Given the description of an element on the screen output the (x, y) to click on. 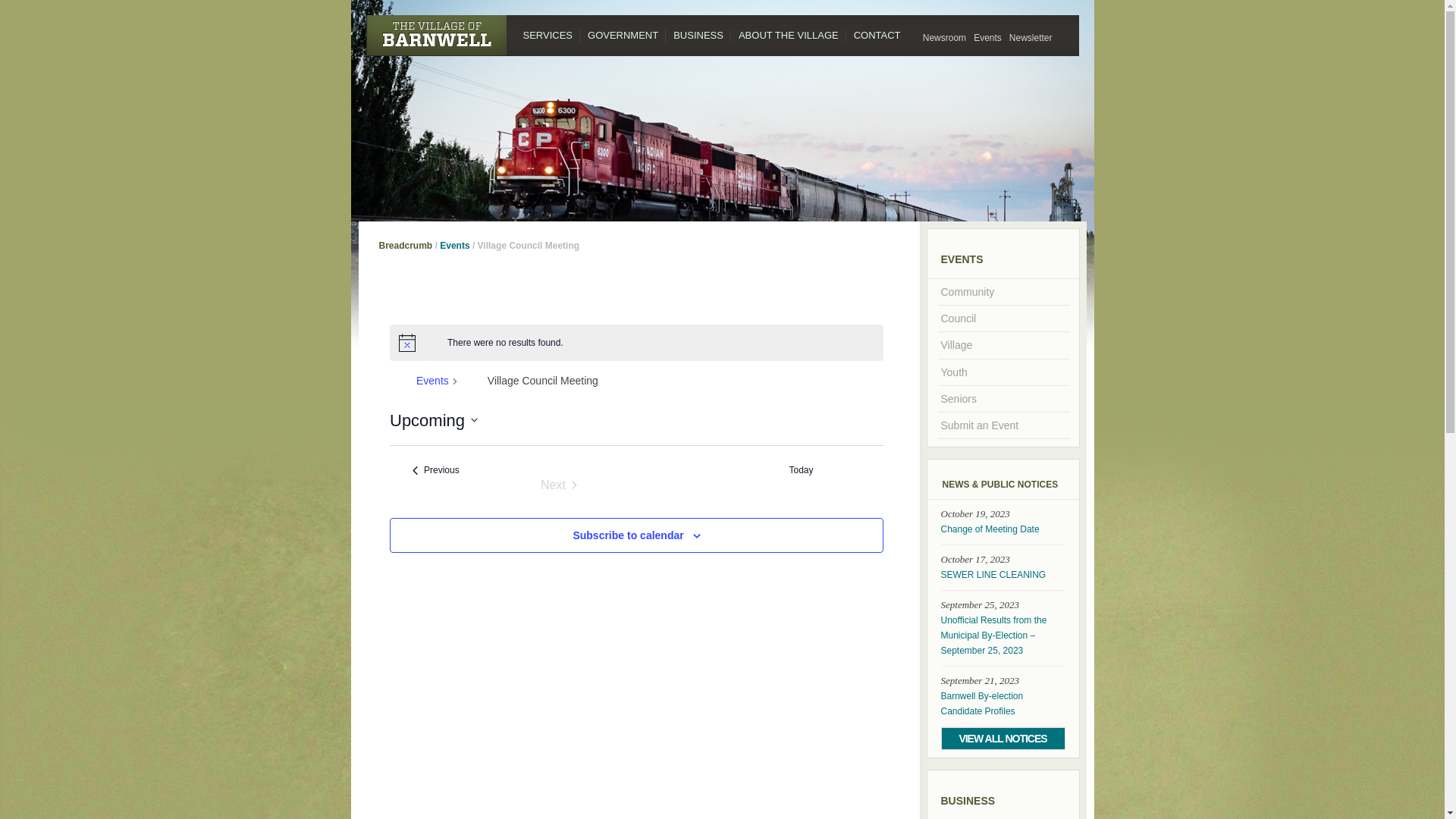
Events Element type: text (454, 245)
ABOUT THE VILLAGE Element type: text (788, 35)
Subscribe to calendar Element type: text (627, 535)
Council Element type: text (1002, 318)
Barnwell By-election Candidate Profiles Element type: text (1002, 703)
Previous
Events Element type: text (435, 470)
Newsroom Element type: text (944, 37)
GOVERNMENT Element type: text (622, 35)
Village of Barnwell Element type: text (435, 35)
SEWER LINE CLEANING Element type: text (1002, 574)
Events Element type: text (432, 381)
BUSINESS Element type: text (698, 35)
Youth Element type: text (1002, 372)
Events Element type: text (987, 37)
Community Element type: text (1002, 291)
Newsletter Element type: text (1030, 37)
Upcoming Element type: text (433, 420)
Today Element type: text (800, 470)
Village Element type: text (1002, 344)
Change of Meeting Date Element type: text (1002, 528)
CONTACT Element type: text (877, 35)
SERVICES Element type: text (547, 35)
Seniors Element type: text (1002, 398)
VIEW ALL NOTICES Element type: text (1002, 738)
Submit an Event Element type: text (1002, 425)
Next
Events Element type: text (558, 484)
